Given the description of an element on the screen output the (x, y) to click on. 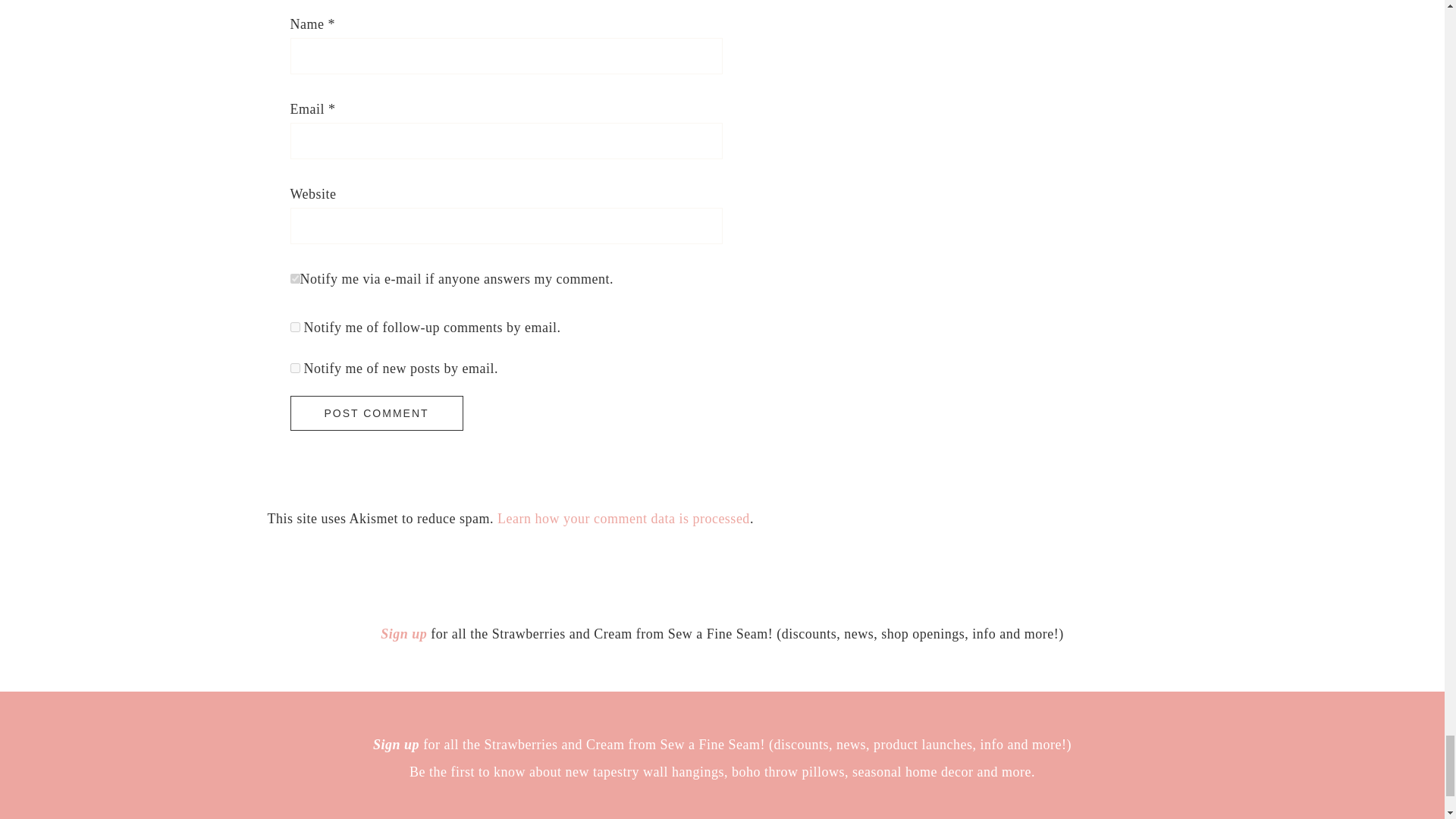
Post Comment (376, 412)
subscribe (294, 327)
subscribe (294, 368)
on (294, 278)
